Given the description of an element on the screen output the (x, y) to click on. 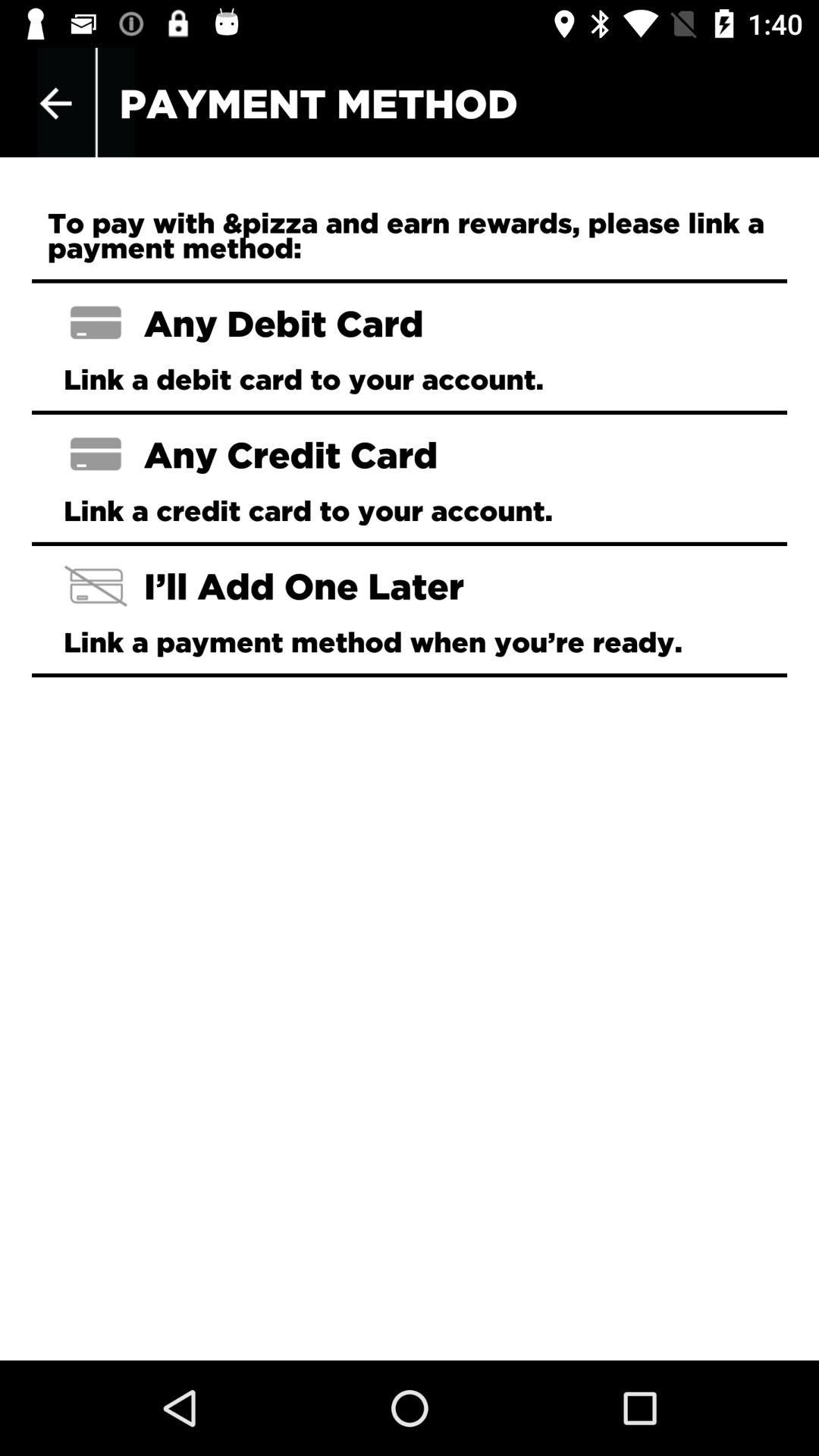
tap icon to the left of payment method icon (55, 103)
